Given the description of an element on the screen output the (x, y) to click on. 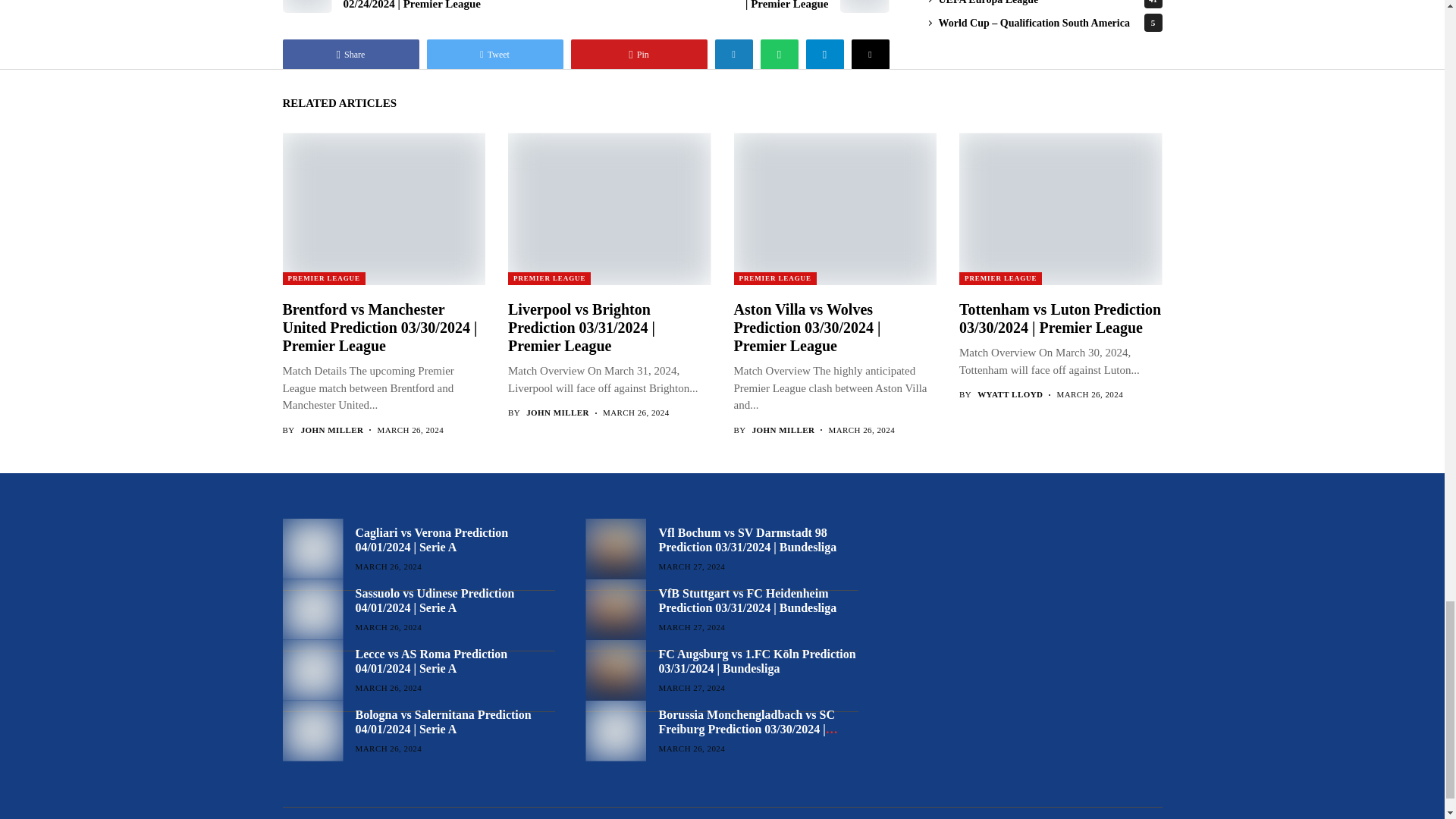
Posts by Wyatt Lloyd (1009, 394)
Posts by John Miller (783, 429)
Posts by John Miller (557, 412)
Posts by John Miller (332, 429)
